Given the description of an element on the screen output the (x, y) to click on. 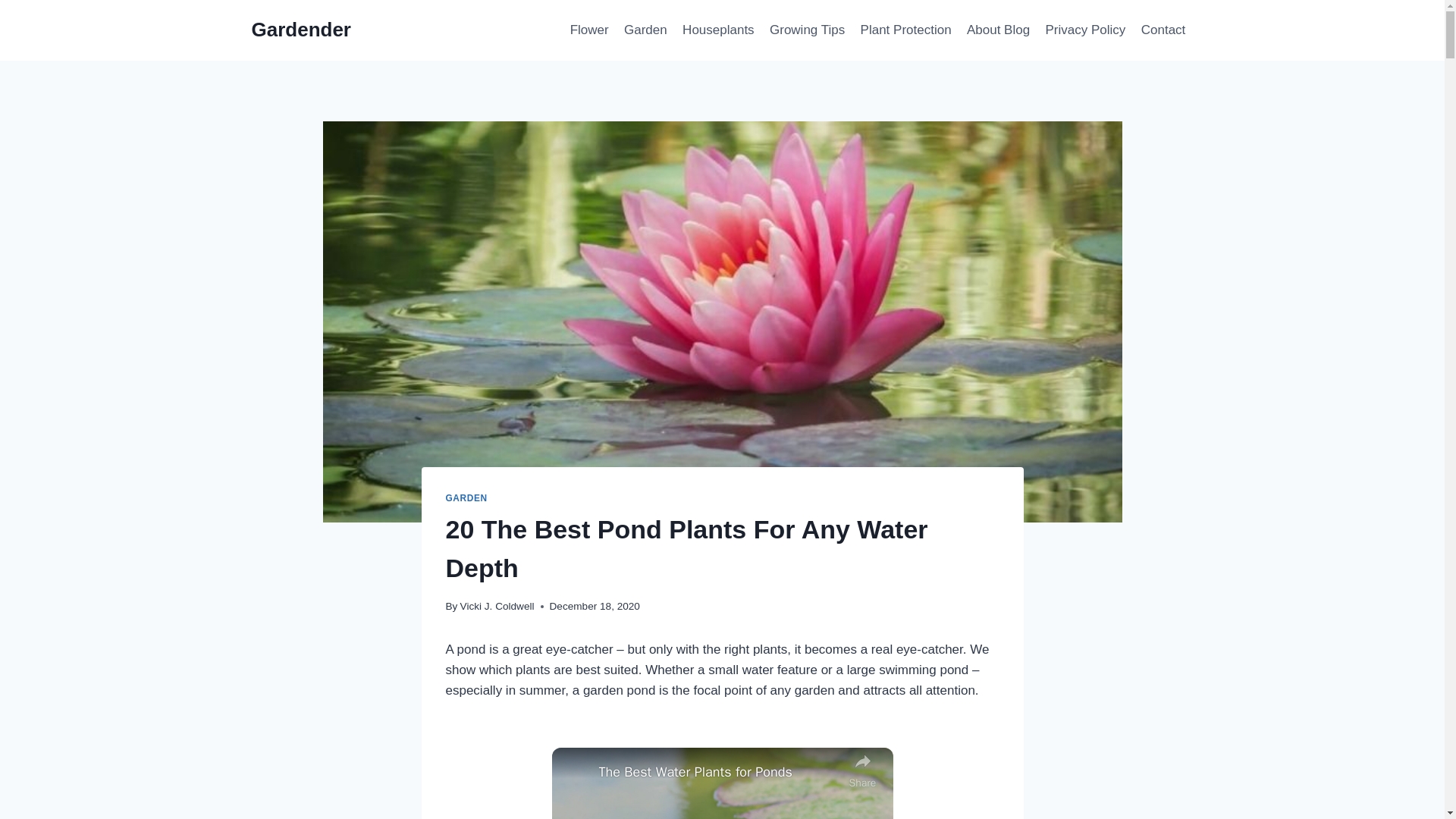
Contact (1163, 30)
Growing Tips (807, 30)
About Blog (998, 30)
Flower (588, 30)
The Best Water Plants for Ponds (719, 771)
Vicki J. Coldwell (497, 605)
Houseplants (718, 30)
Garden (645, 30)
Plant Protection (904, 30)
Privacy Policy (1084, 30)
GARDEN (466, 498)
Gardender (301, 29)
